Given the description of an element on the screen output the (x, y) to click on. 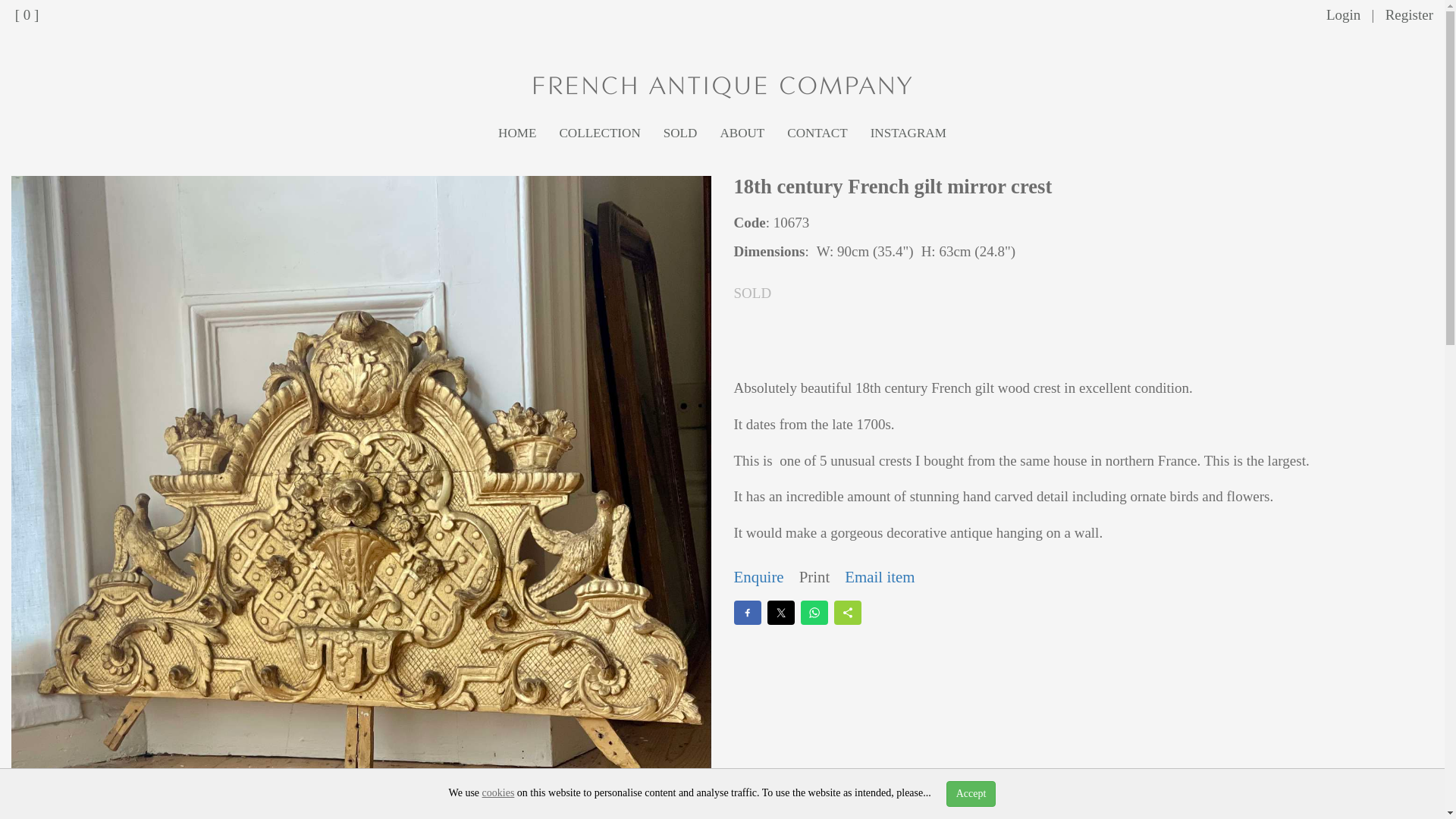
Login (1342, 14)
Print (814, 577)
SOLD (680, 133)
HOME (516, 133)
CONTACT (817, 133)
French Antique Company (722, 86)
Register (1409, 14)
COLLECTION (598, 133)
Accept (970, 793)
ABOUT (741, 133)
Email item (879, 577)
cookies (498, 792)
INSTAGRAM (908, 133)
Enquire (758, 577)
